Given the description of an element on the screen output the (x, y) to click on. 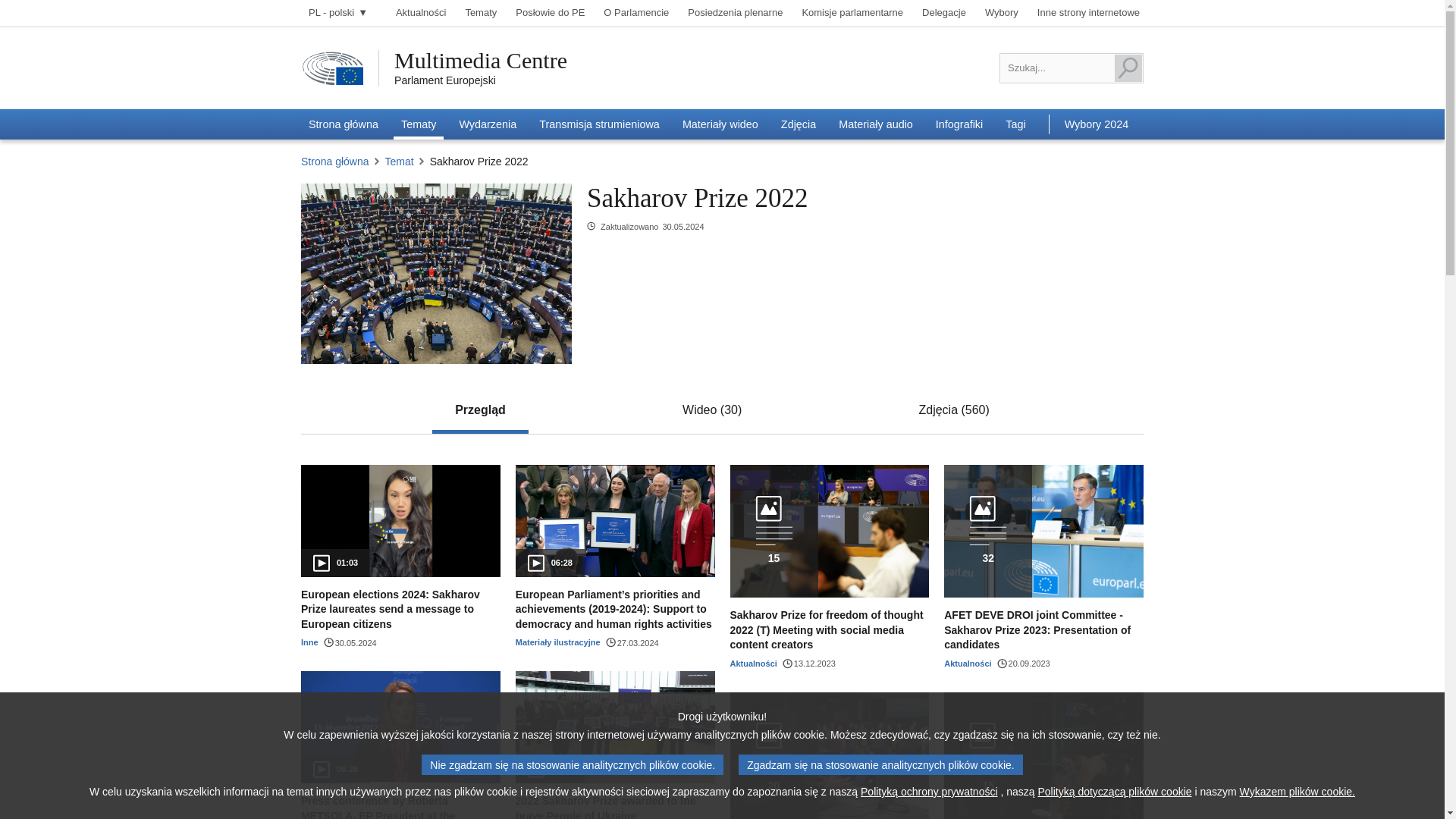
Posiedzenia plenarne (735, 13)
Tematy (480, 13)
Tematy (480, 13)
Wybory (1001, 13)
Komisje parlamentarne (852, 13)
Komisje parlamentarne (852, 13)
Wybory (1001, 13)
Delegacje (943, 13)
Delegacje (943, 13)
Inne strony internetowe (1087, 13)
